Given the description of an element on the screen output the (x, y) to click on. 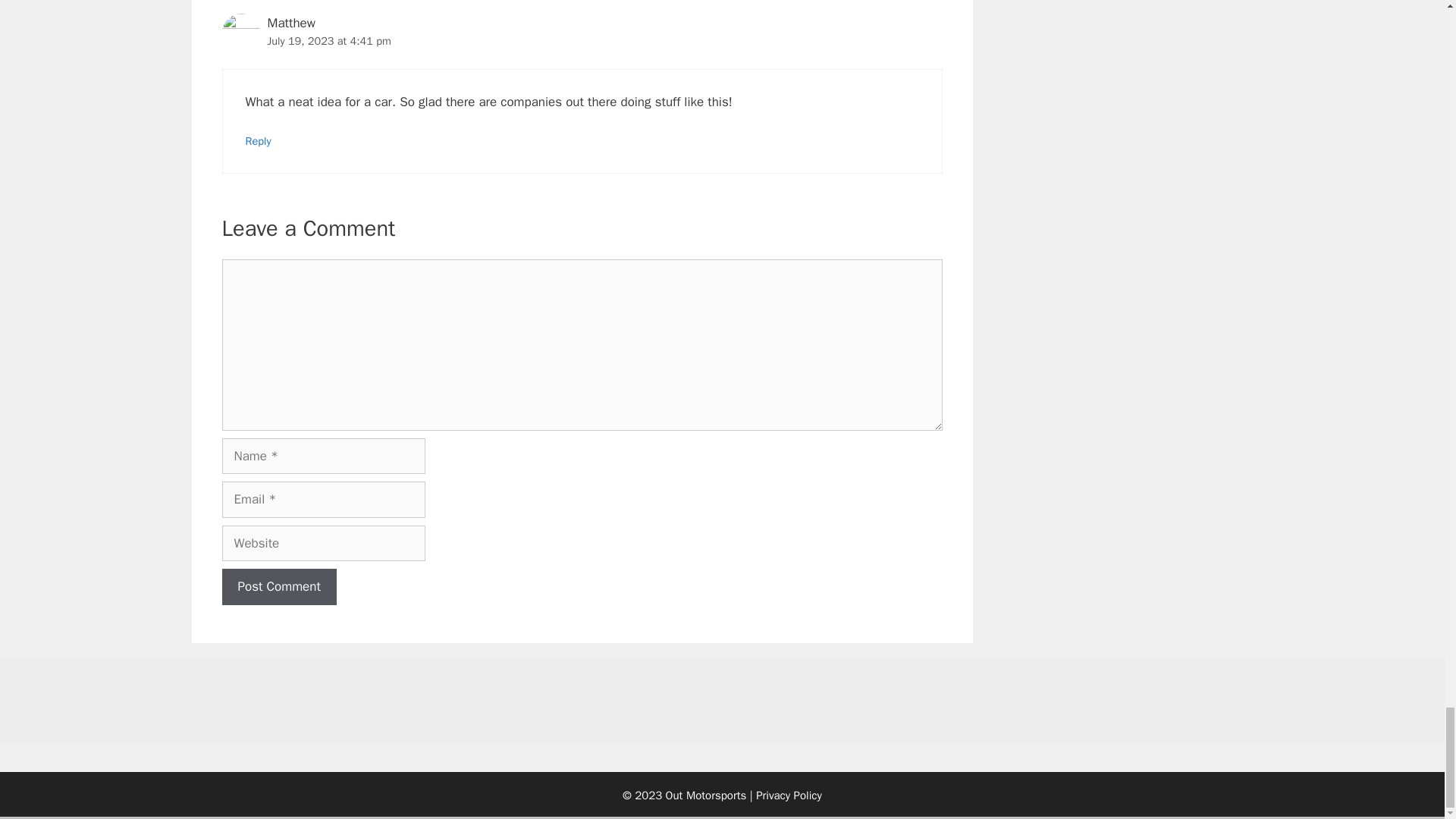
July 19, 2023 at 4:41 pm (328, 40)
Post Comment (278, 586)
Post Comment (278, 586)
Reply (258, 141)
Privacy Policy (788, 795)
